Given the description of an element on the screen output the (x, y) to click on. 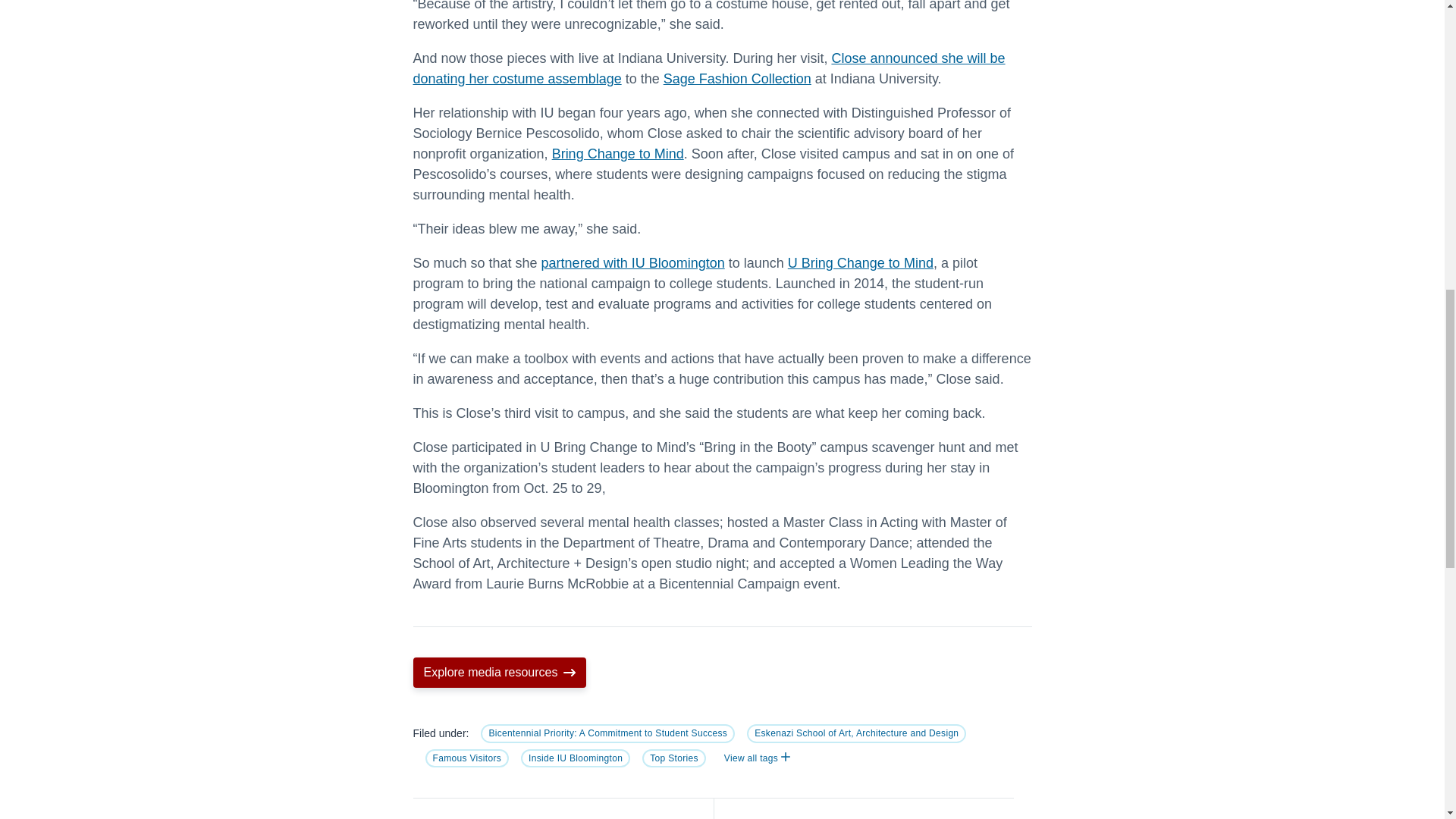
partnered with IU Bloomington (633, 263)
Plus sign (785, 756)
View all tags Plus sign (756, 758)
Inside IU Bloomington (575, 758)
U Bring Change to Mind (860, 263)
Bring Change to Mind (617, 153)
Top Stories (674, 758)
Eskenazi School of Art, Architecture and Design (856, 732)
Bicentennial Priority: A Commitment to Student Success (607, 732)
Close announced she will be donating her costume assemblage (708, 68)
Sage Fashion Collection (736, 78)
Famous Visitors (466, 758)
Explore media resources (499, 672)
